Given the description of an element on the screen output the (x, y) to click on. 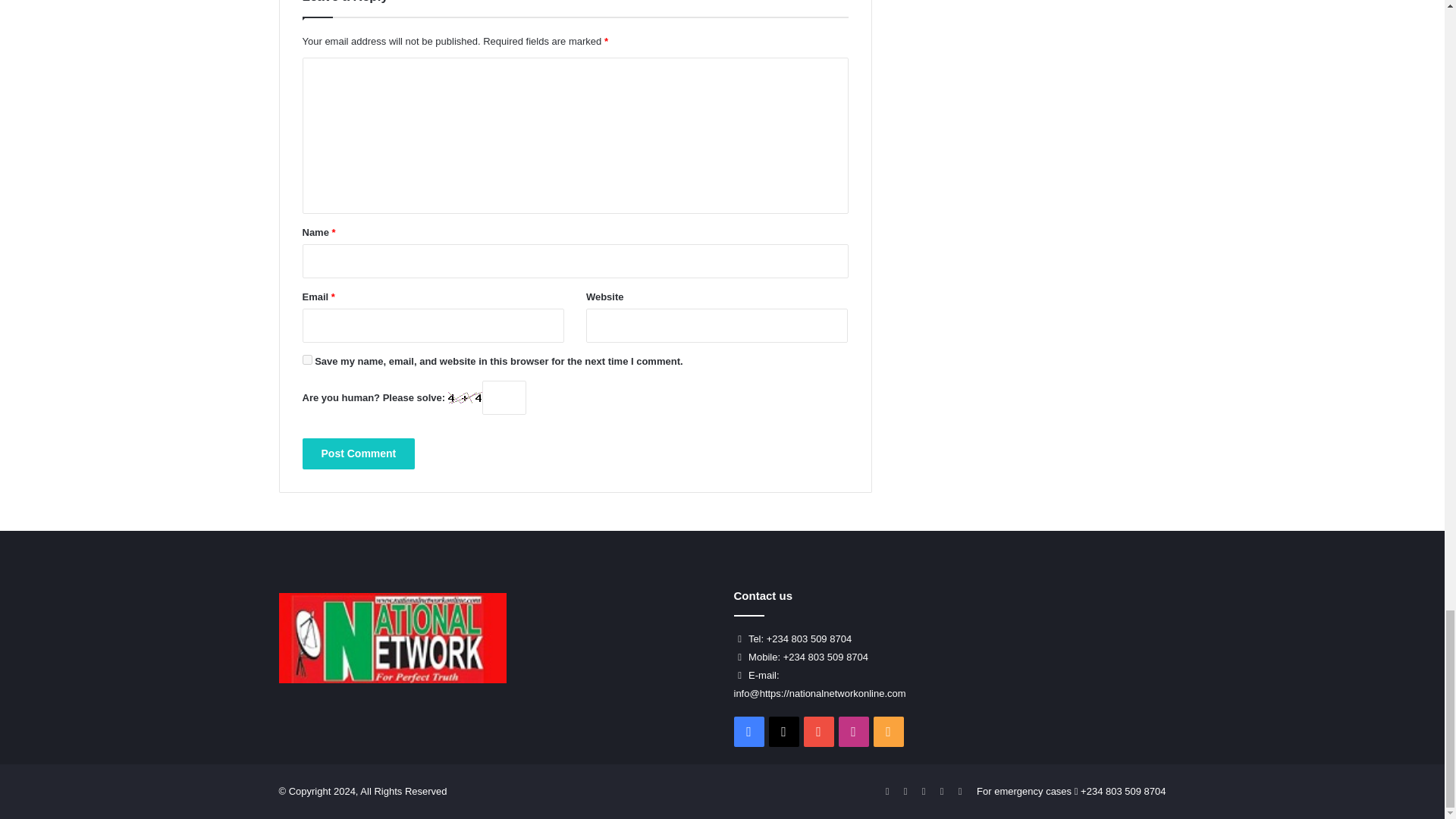
yes (306, 359)
Post Comment (357, 453)
